Given the description of an element on the screen output the (x, y) to click on. 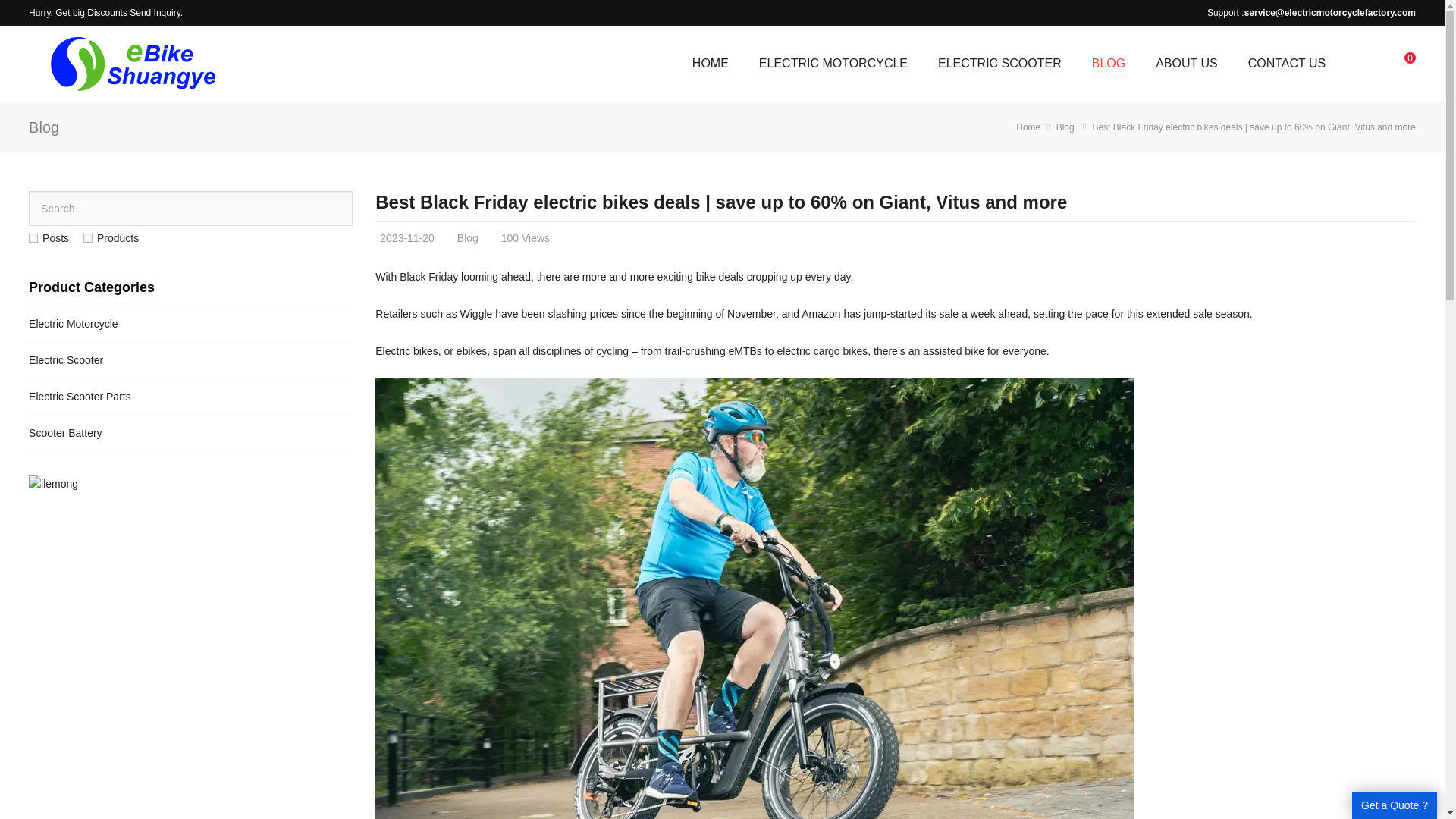
ELECTRIC MOTORCYCLE (833, 63)
Blog (1065, 127)
post (33, 237)
electric motorcycle (130, 63)
BLOG (1108, 63)
eMTBs (745, 350)
ELECTRIC SCOOTER (1000, 63)
ABOUT US (1186, 63)
CONTACT US (1286, 63)
Home (1028, 127)
electric cargo bikes (821, 350)
Blog (44, 126)
0 (1410, 63)
Blog (468, 237)
HOME (710, 63)
